Given the description of an element on the screen output the (x, y) to click on. 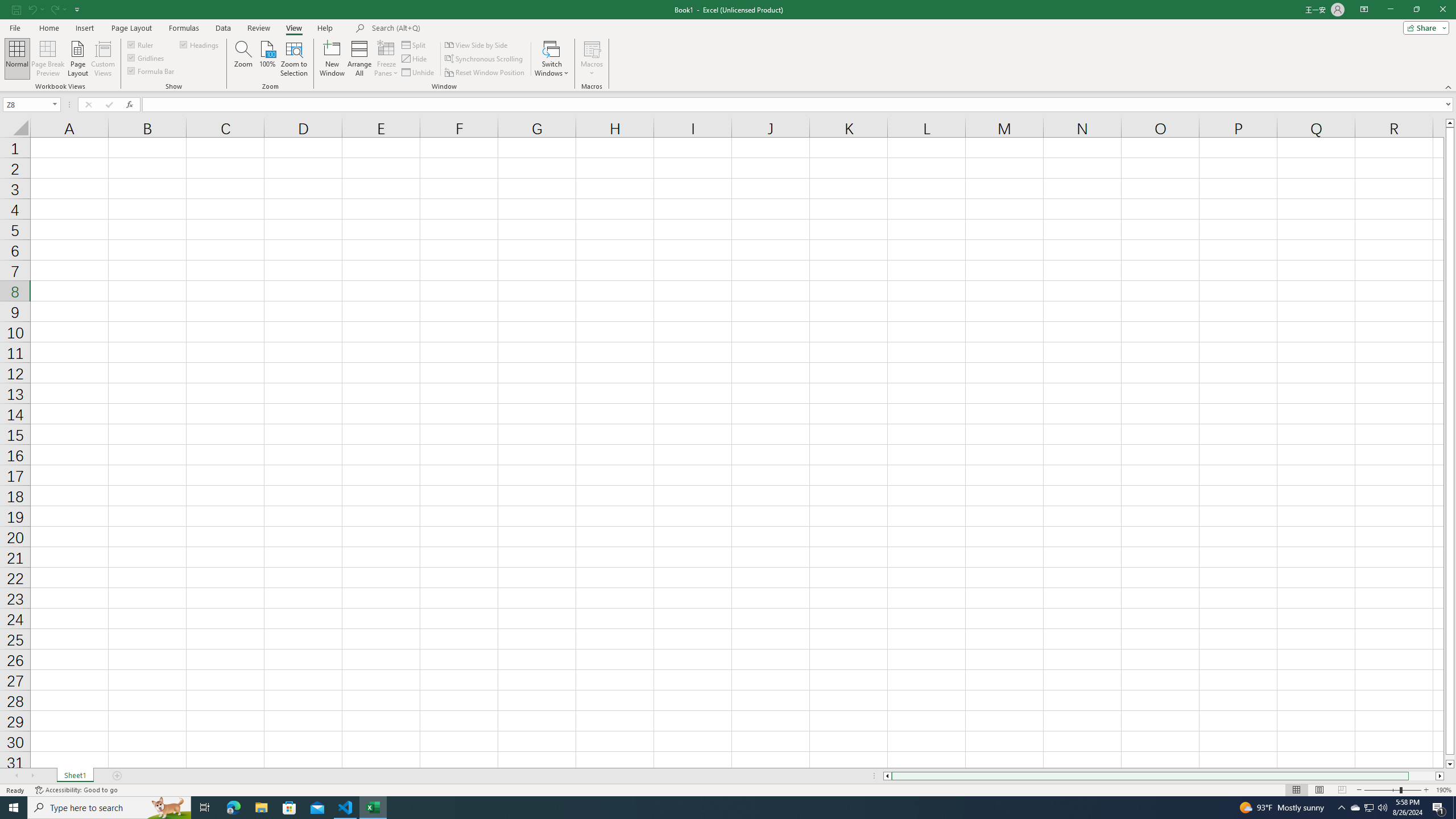
Gridlines (146, 56)
Custom Views... (103, 58)
Switch Windows (551, 58)
